Given the description of an element on the screen output the (x, y) to click on. 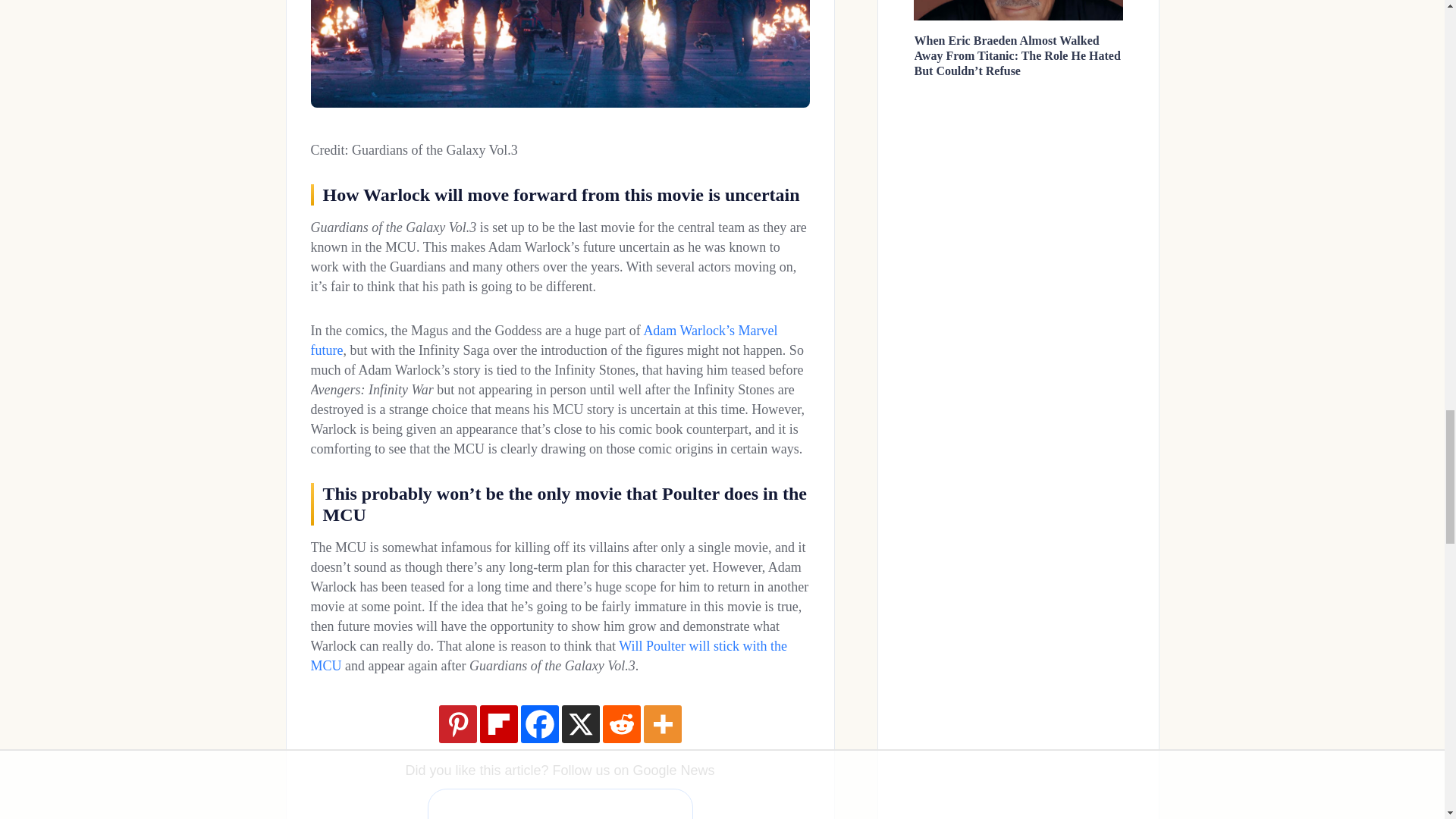
Pinterest (457, 723)
Guardians of the Galaxy in Vol.3 (560, 53)
Facebook (538, 723)
Reddit (621, 723)
Flipboard (497, 723)
More (662, 723)
X (579, 723)
